Given the description of an element on the screen output the (x, y) to click on. 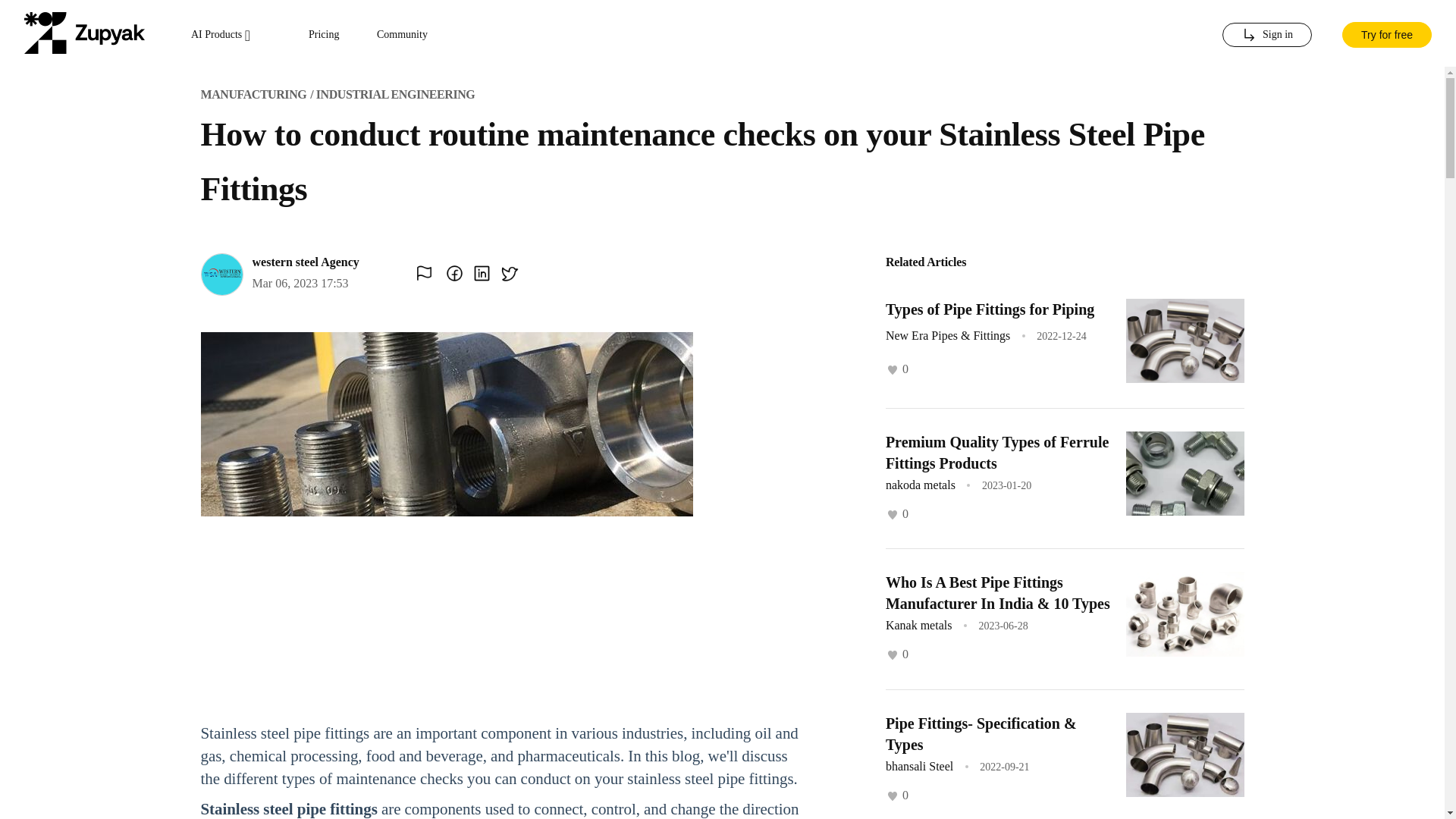
INDUSTRIAL ENGINEERING (394, 93)
Pricing (323, 34)
Premium Quality Types of Ferrule Fittings Products (996, 452)
Types of Pipe Fittings for Piping (989, 309)
Community (402, 34)
Try for free (1386, 33)
MANUFACTURING (252, 93)
 Sign in (1267, 34)
